Given the description of an element on the screen output the (x, y) to click on. 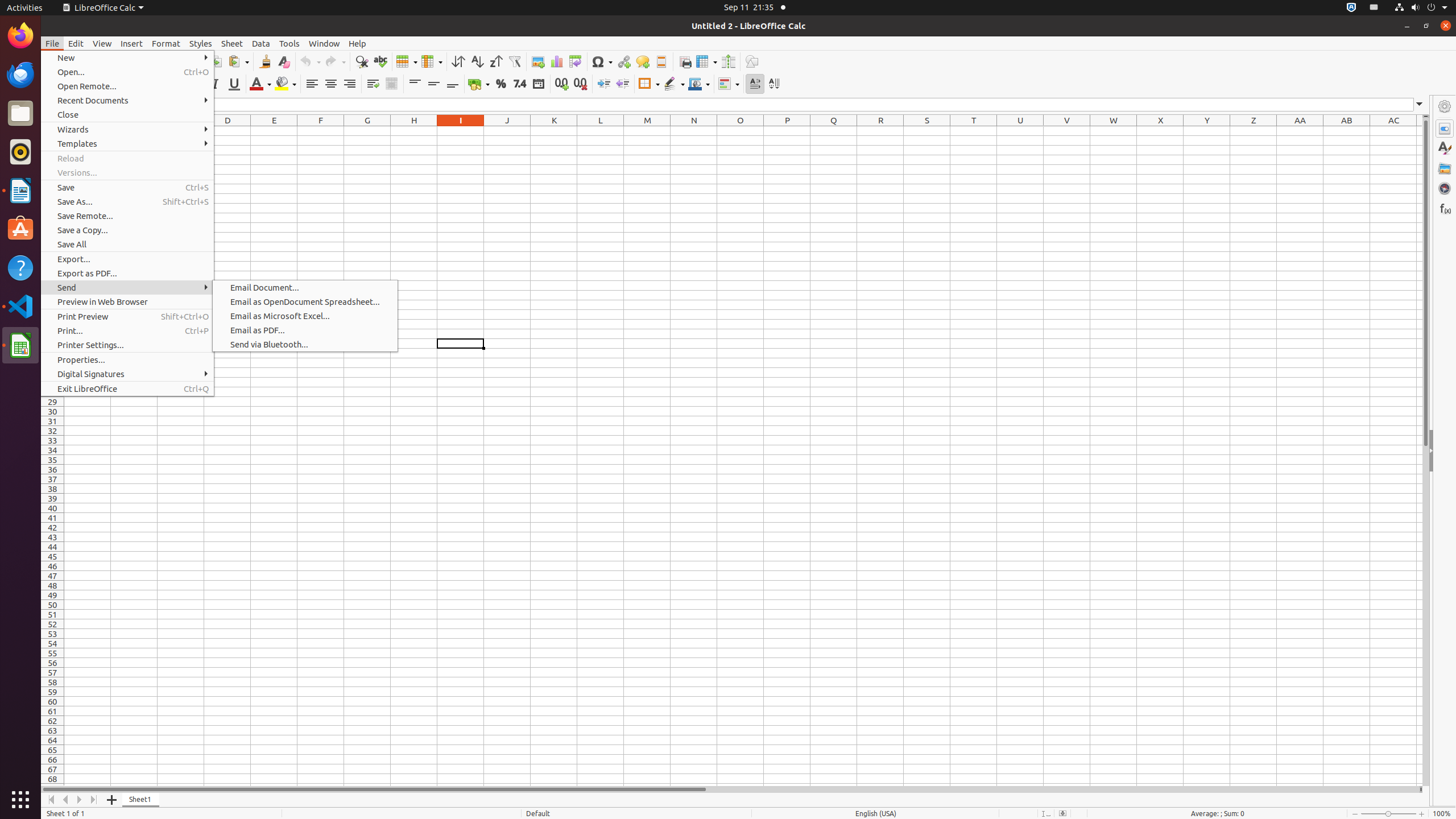
H1 Element type: table-cell (413, 130)
Symbol Element type: push-button (601, 61)
Properties Element type: radio-button (1444, 128)
Text direction from left to right Element type: toggle-button (754, 83)
Background Color Element type: push-button (285, 83)
